Given the description of an element on the screen output the (x, y) to click on. 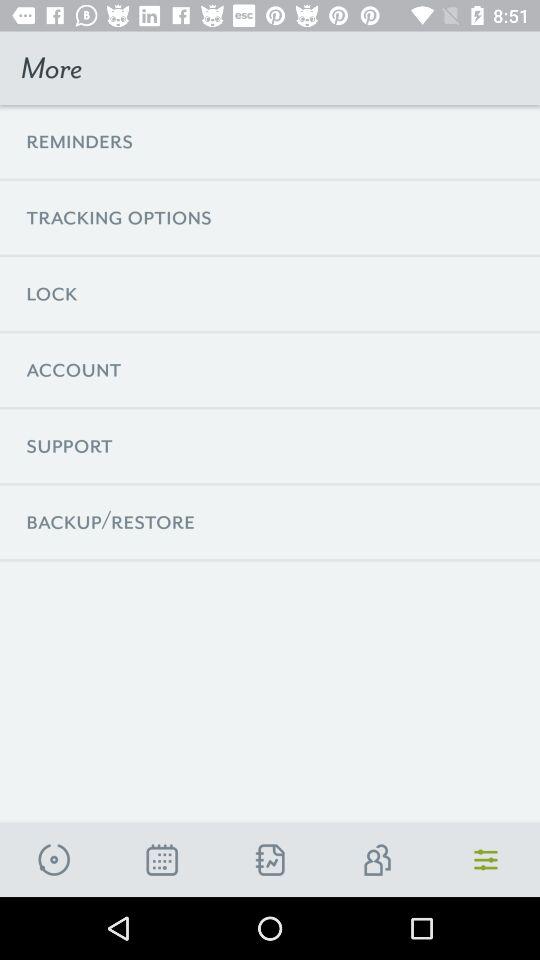
calendar button (162, 860)
